Given the description of an element on the screen output the (x, y) to click on. 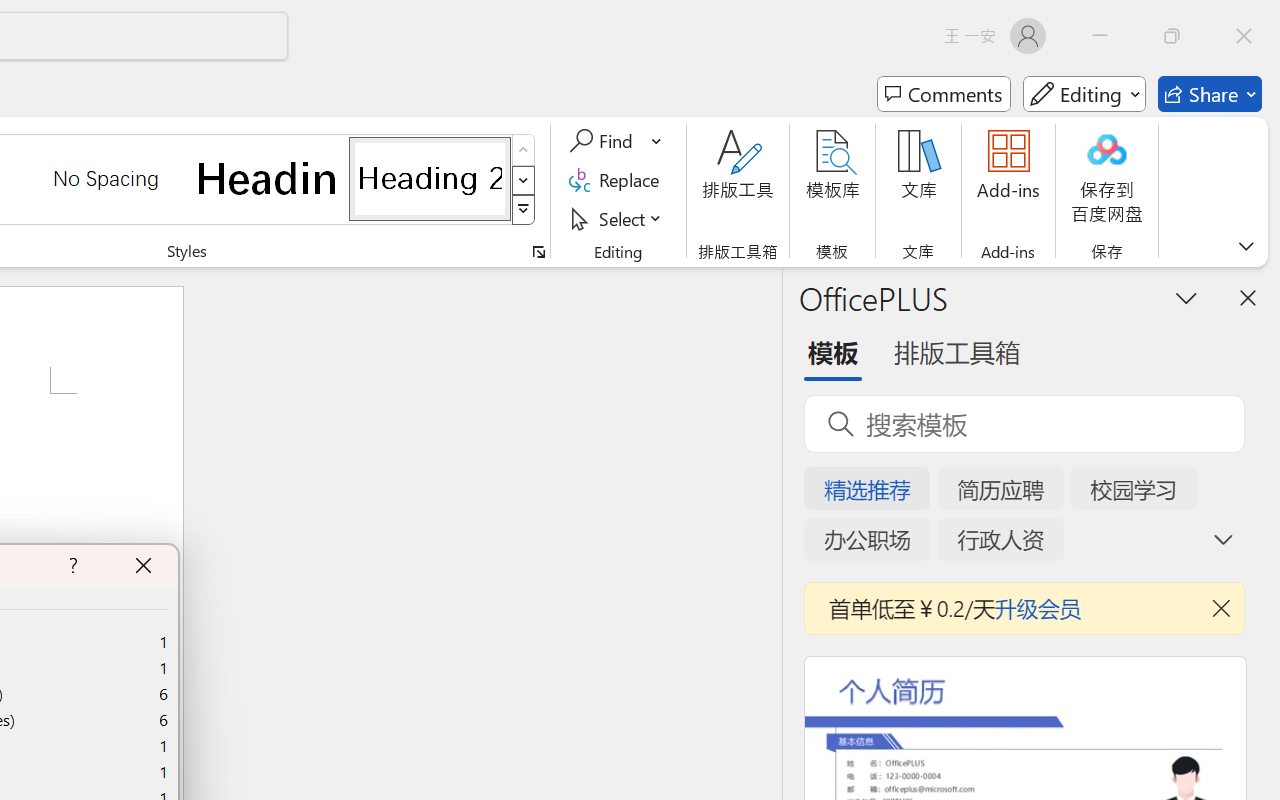
Select (618, 218)
Task Pane Options (1186, 297)
Minimize (1099, 36)
Heading 2 (429, 178)
Share (1210, 94)
Styles... (538, 252)
Row Down (523, 180)
More Options (657, 141)
